Given the description of an element on the screen output the (x, y) to click on. 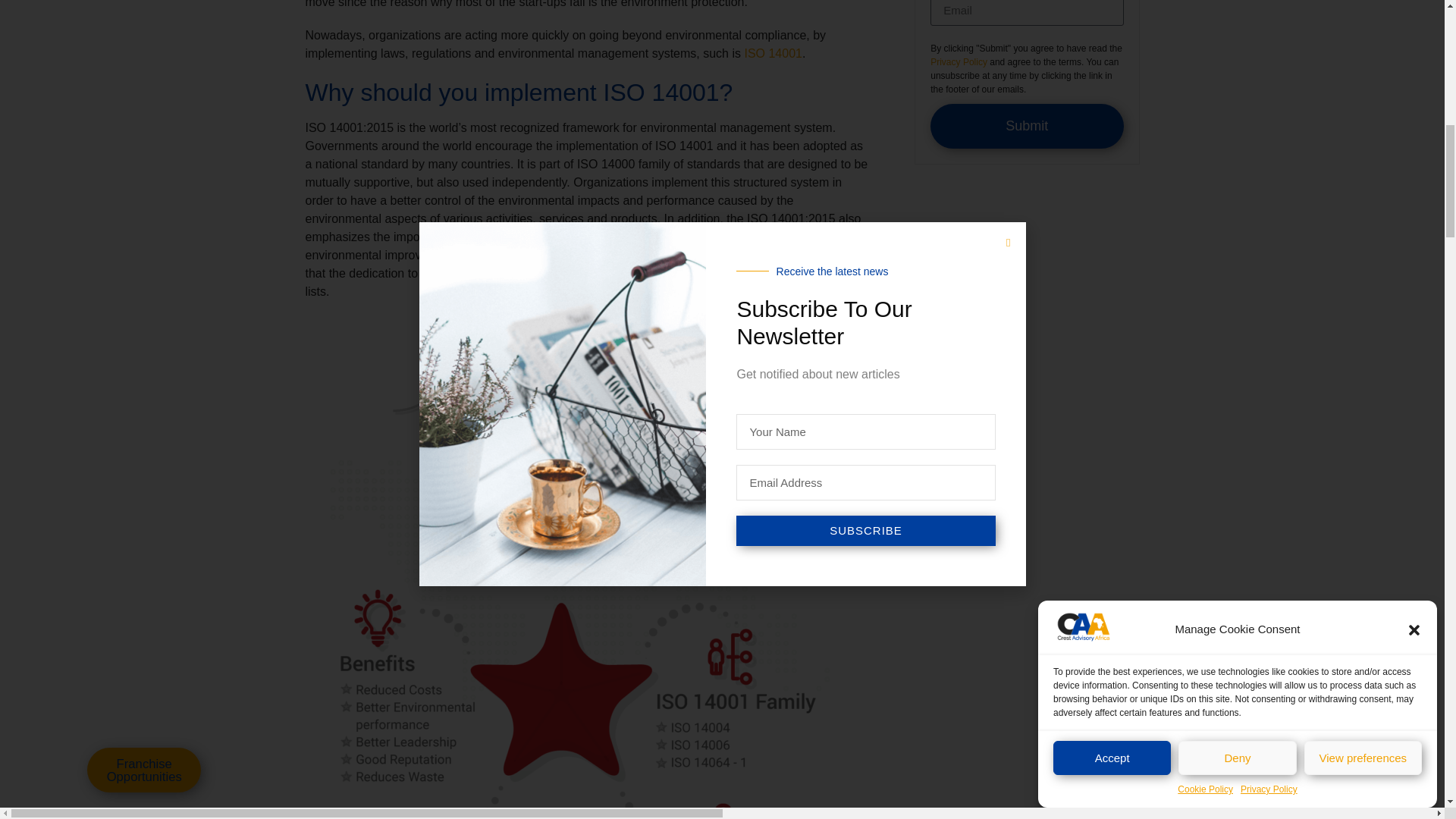
Deny (1236, 79)
Accept (1111, 100)
View preferences (1363, 59)
Cookie Policy (1205, 32)
Privacy Policy (1268, 21)
